Given the description of an element on the screen output the (x, y) to click on. 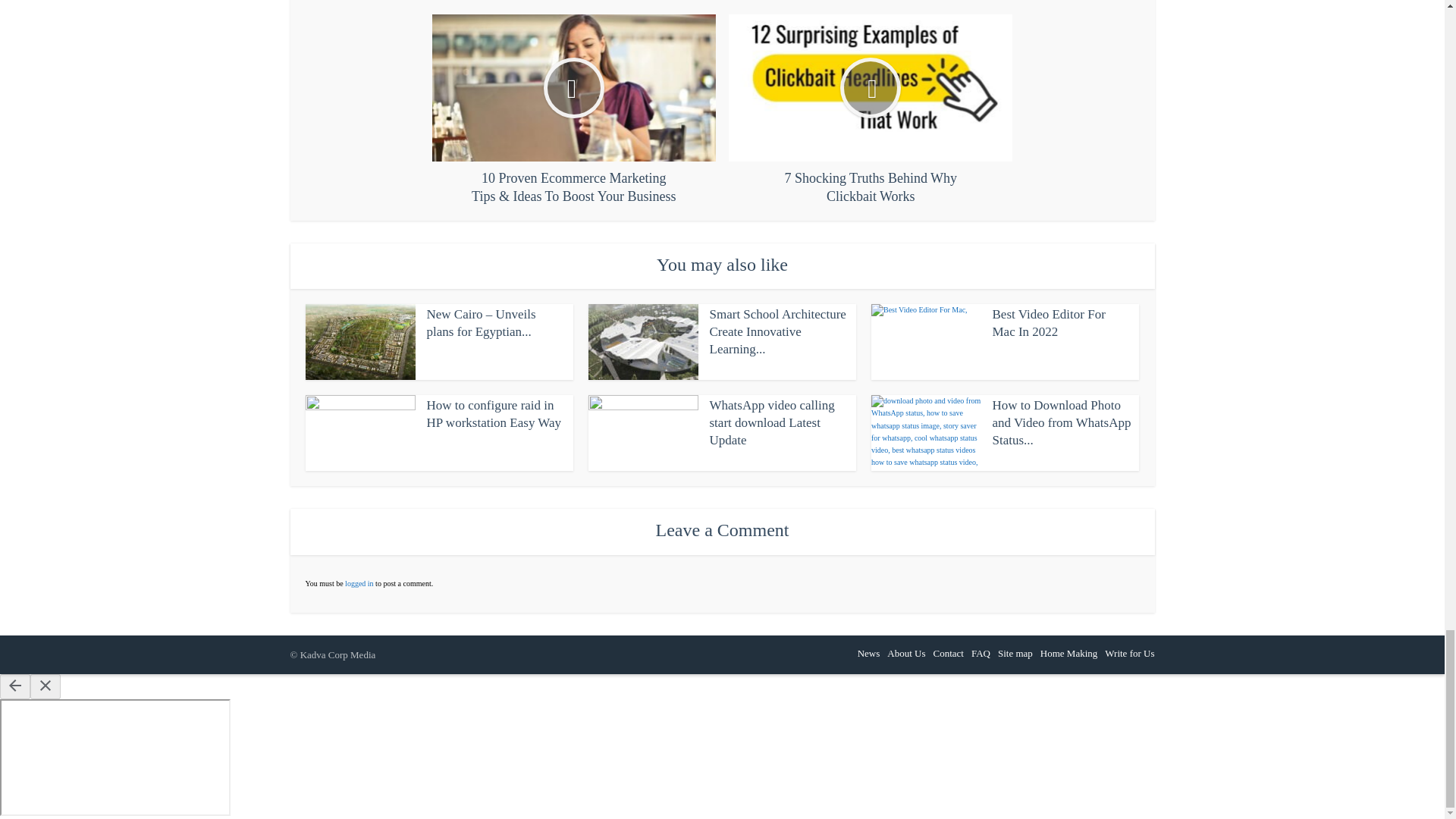
Smart School Architecture Create Innovative Learning... (777, 331)
How to configure raid in HP workstation Easy Way (493, 413)
7 Shocking Truths Behind Why Clickbait Works (870, 109)
Best Video Editor For Mac In 2022 (1048, 323)
Best Video Editor For Mac In 2022 (1048, 323)
